Given the description of an element on the screen output the (x, y) to click on. 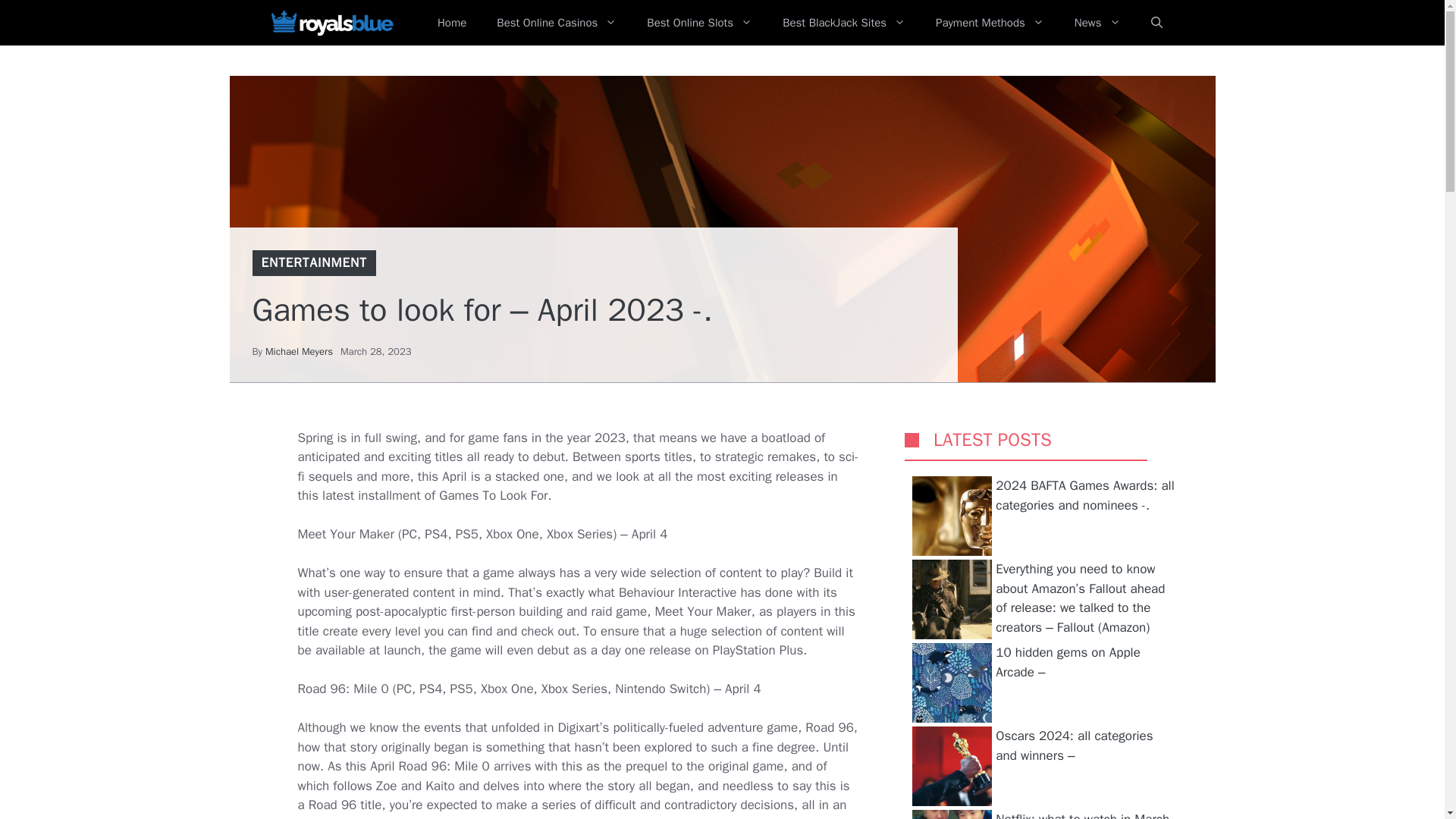
Best Online Slots (699, 22)
Home (451, 22)
ENTERTAINMENT (313, 262)
News (1097, 22)
Best BlackJack Sites (843, 22)
Best Online Casinos (556, 22)
Payment Methods (989, 22)
SORRY, YOUR BROWSER DOES NOT SUPPORT INLINE SVG. (911, 440)
Michael Meyers (298, 350)
Royals Blue (331, 22)
